Given the description of an element on the screen output the (x, y) to click on. 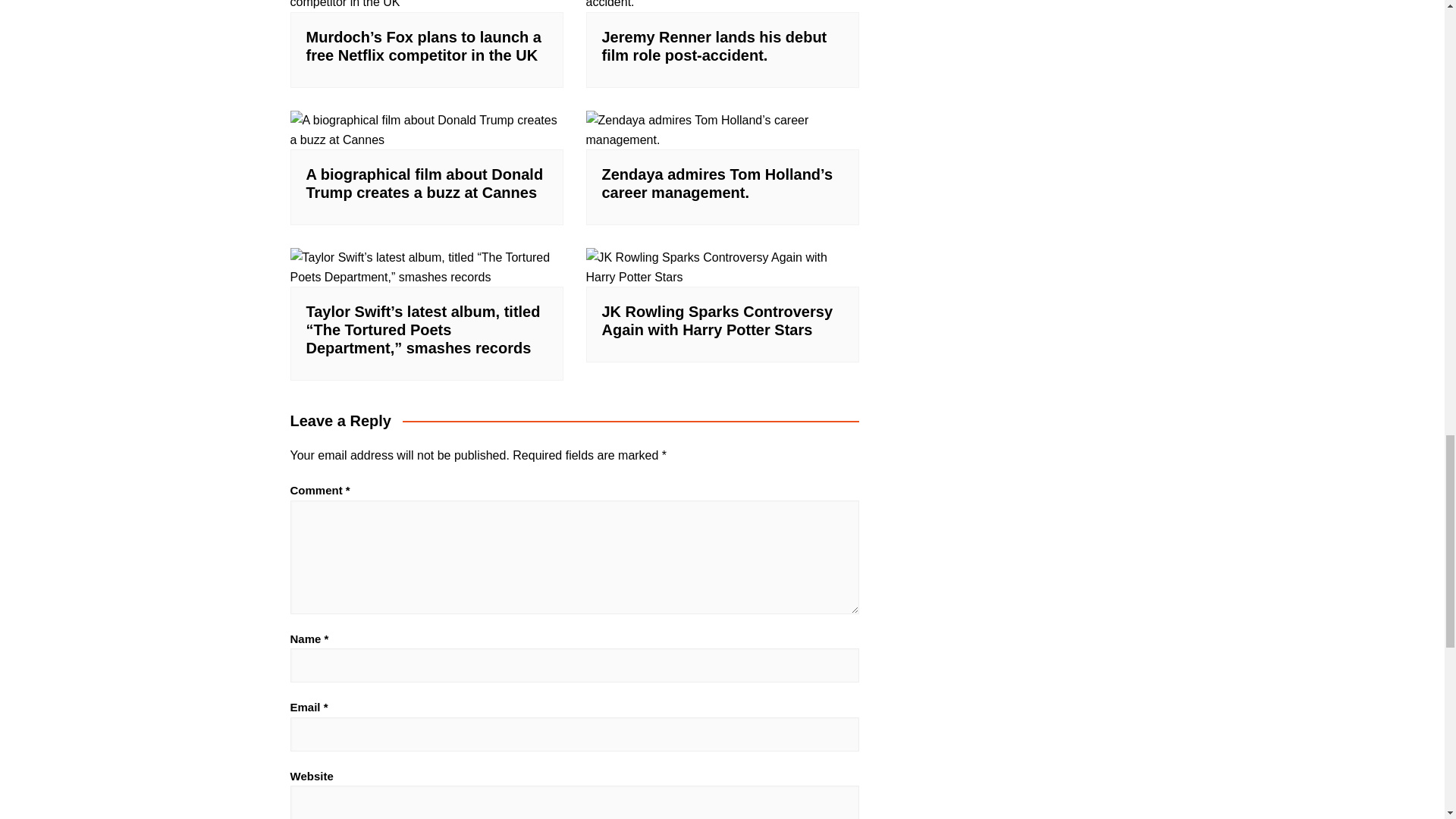
JK Rowling Sparks Controversy Again with Harry Potter Stars (717, 320)
Jeremy Renner lands his debut film role post-accident. (714, 45)
